Given the description of an element on the screen output the (x, y) to click on. 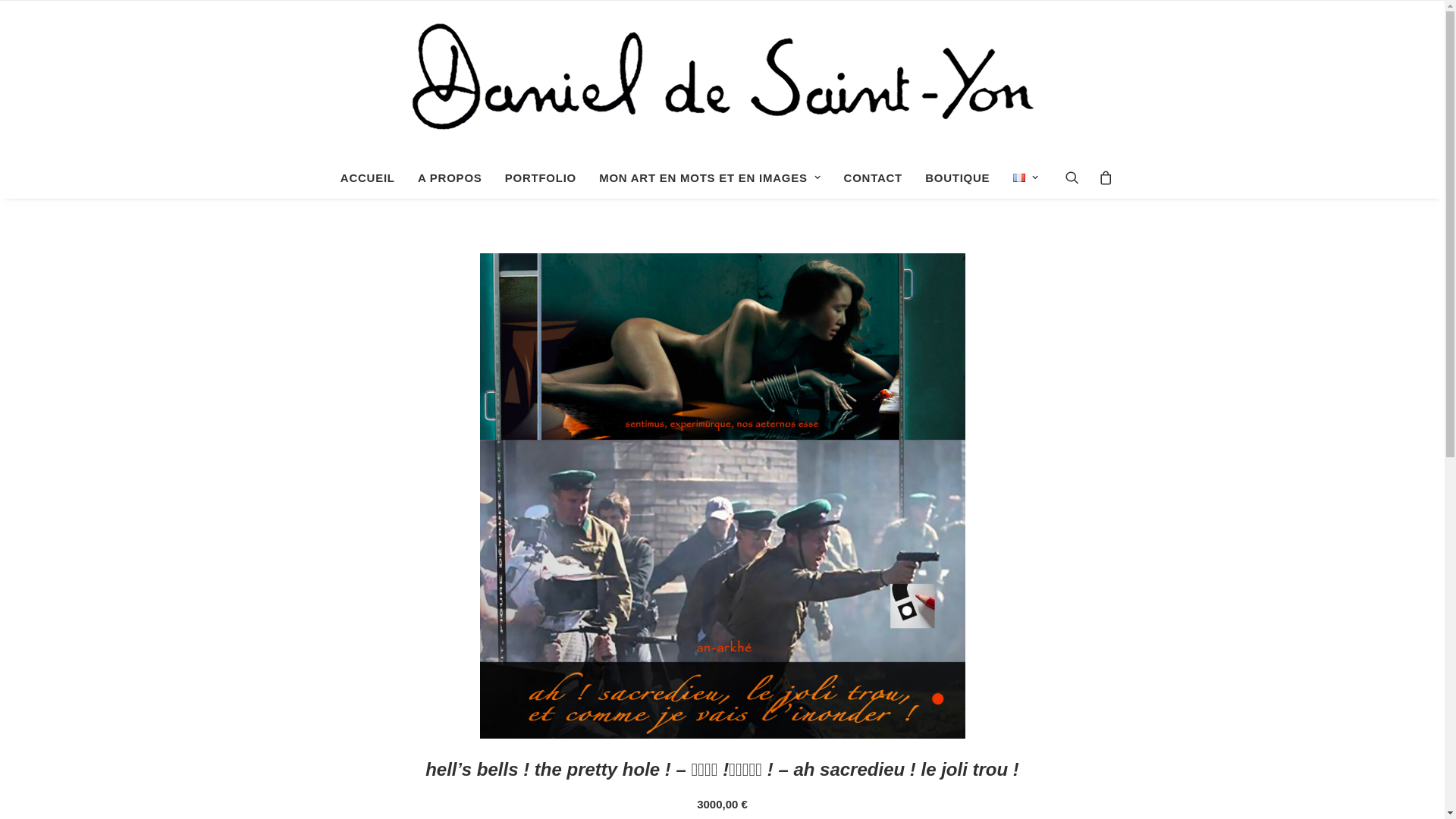
A PROPOS Element type: text (449, 176)
cart Element type: hover (1100, 176)
BOUTIQUE Element type: text (957, 176)
CONTACT Element type: text (873, 176)
MON ART EN MOTS ET EN IMAGES Element type: text (709, 176)
PORTFOLIO Element type: text (540, 176)
ACCUEIL Element type: text (367, 176)
